Given the description of an element on the screen output the (x, y) to click on. 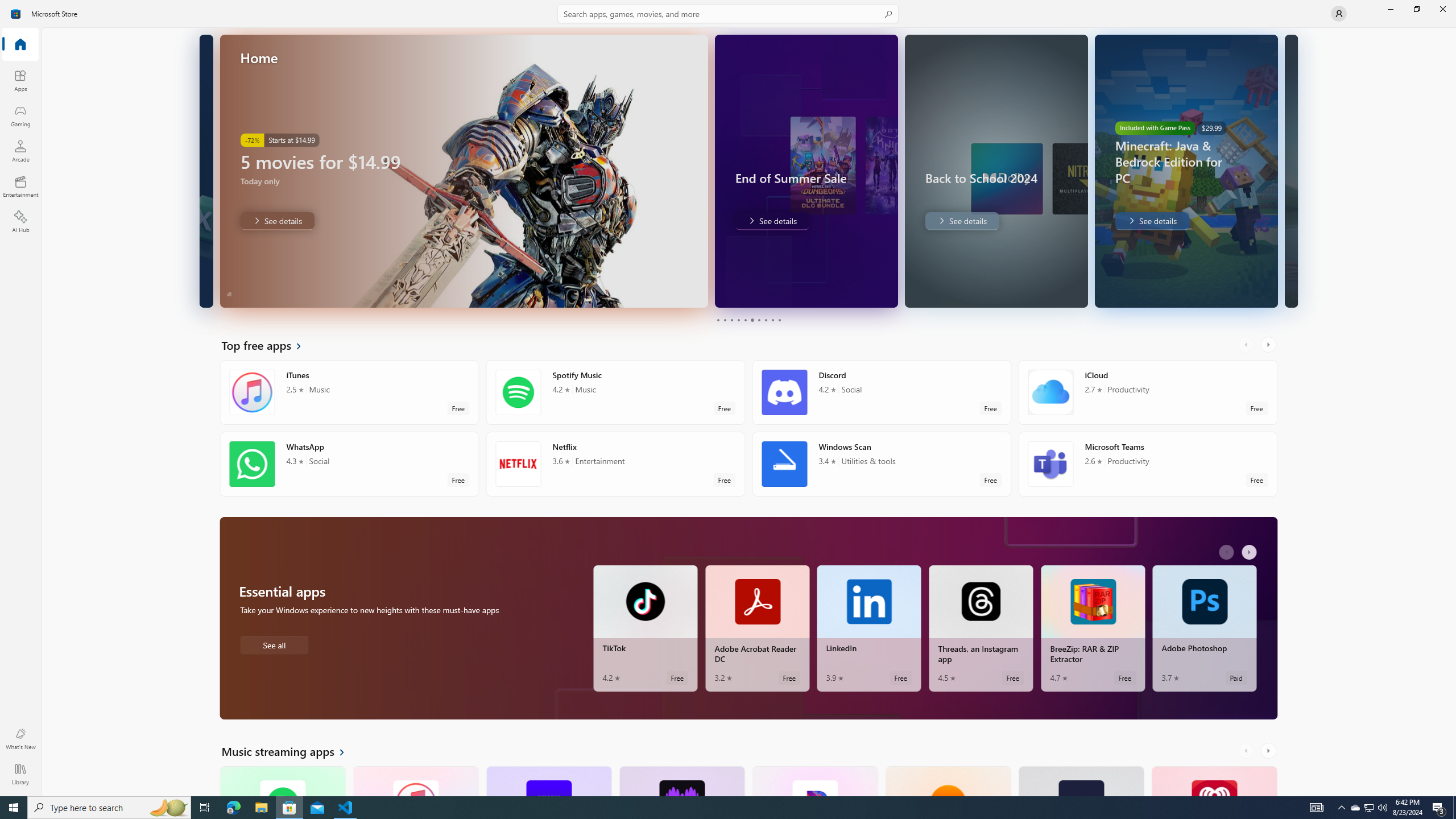
Pager (748, 319)
Page 8 (764, 319)
Restore Microsoft Store (1416, 9)
Page 9 (772, 319)
What's New (20, 738)
iTunes. Average rating of 2.5 out of five stars. Free   (415, 780)
Minimize Microsoft Store (1390, 9)
